Given the description of an element on the screen output the (x, y) to click on. 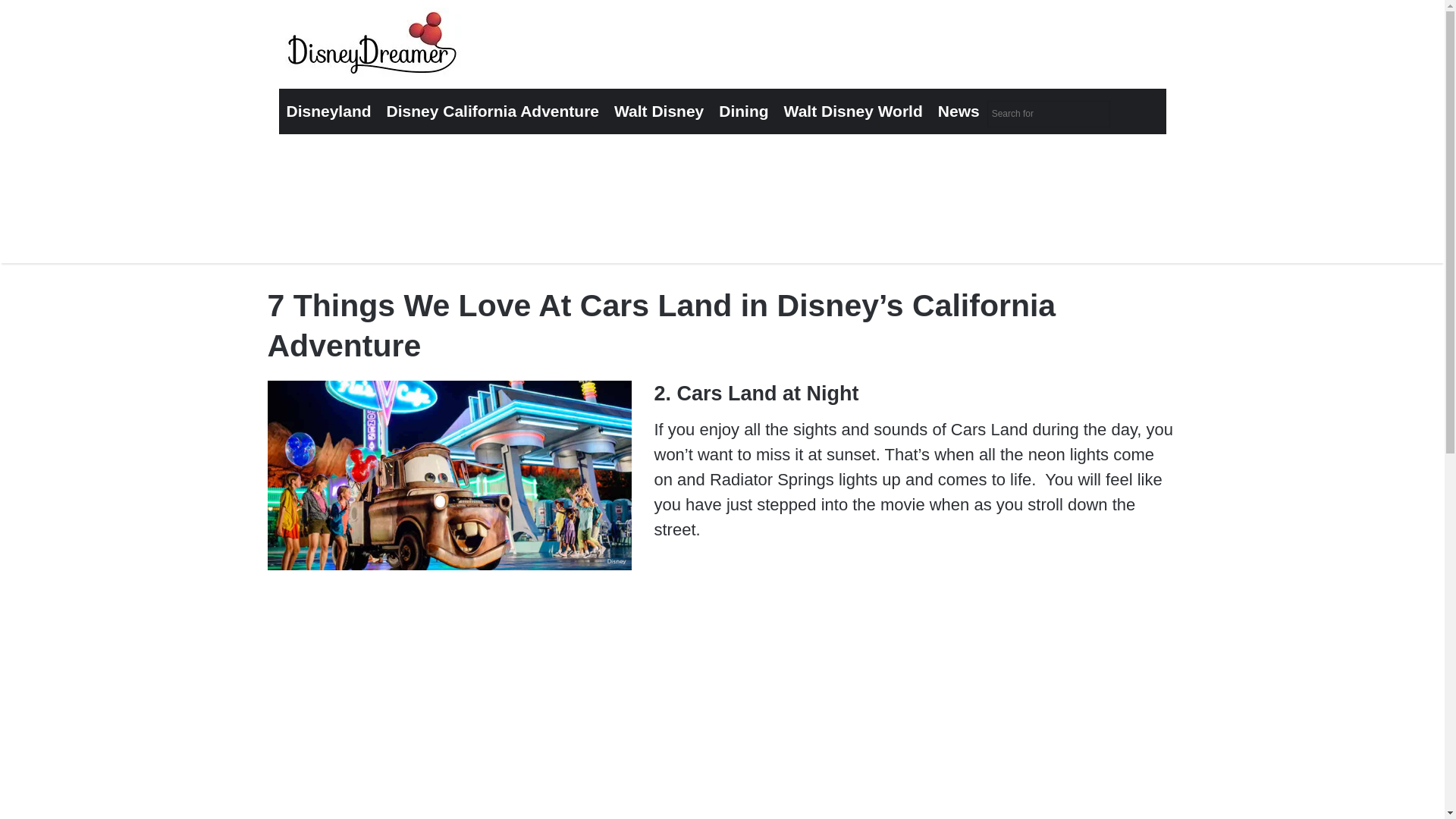
Disneyland (328, 111)
Walt Disney World (853, 111)
Walt Disney (659, 111)
Disney California Adventure (492, 111)
News (958, 111)
Search for (1048, 113)
DisneyDreamer.com (373, 47)
Dining (743, 111)
